Given the description of an element on the screen output the (x, y) to click on. 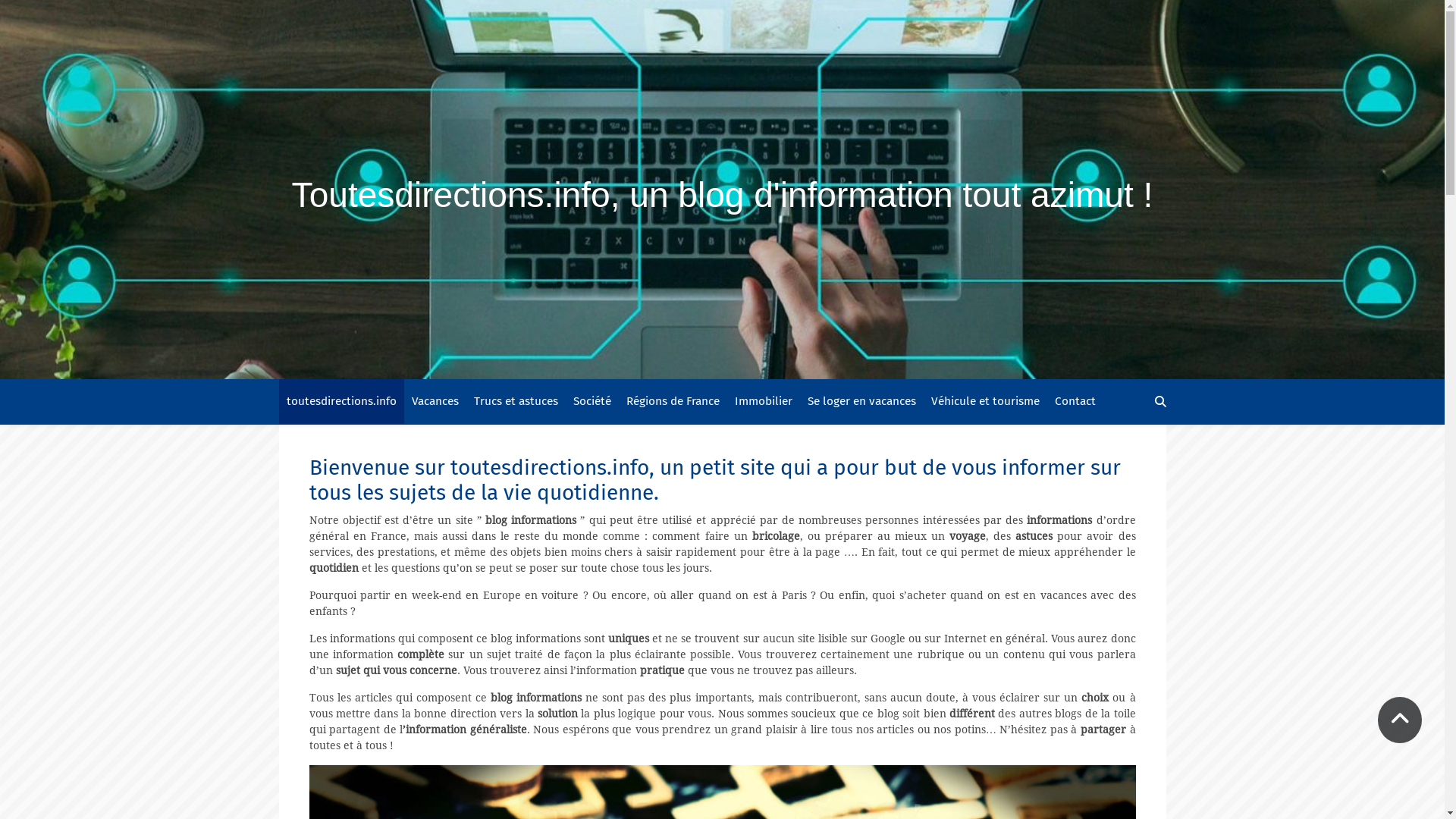
Trucs et astuces Element type: text (514, 401)
toutesdirections.info Element type: text (341, 401)
Immobilier Element type: text (762, 401)
Se loger en vacances Element type: text (860, 401)
Vacances Element type: text (434, 401)
Contact Element type: text (1074, 401)
